Given the description of an element on the screen output the (x, y) to click on. 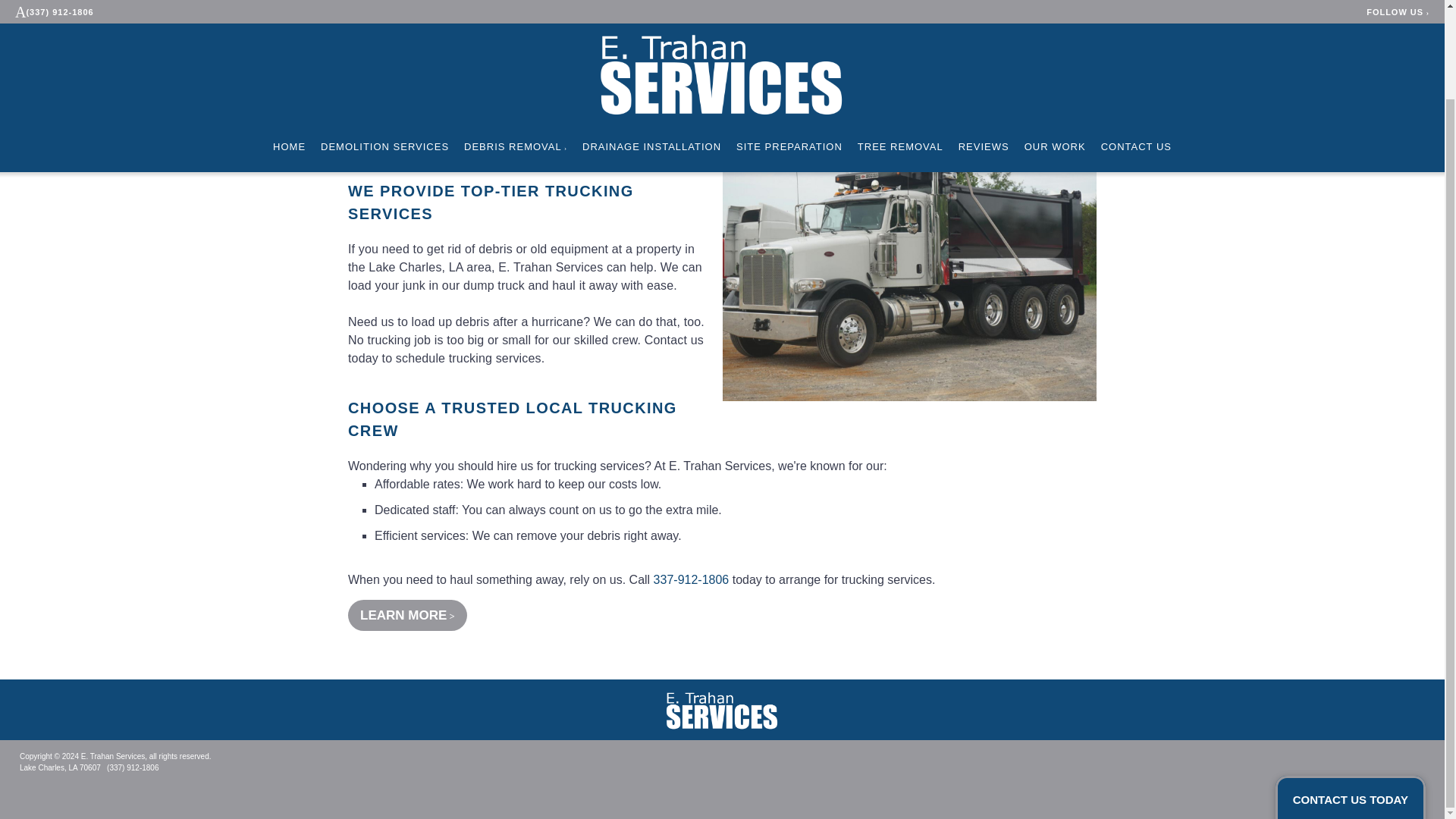
E. Trahan Services (722, 709)
337-912-1806 (691, 579)
DRAINAGE INSTALLATION (651, 45)
HOME (289, 45)
GET RID OF YOUR JUNK ASAP (496, 145)
CONTACT US TODAY (1350, 698)
SITE PREPARATION (789, 45)
OUR WORK (1055, 45)
TREE REMOVAL (900, 45)
CONTACT US (1136, 45)
LEARN MORE (407, 614)
REVIEWS (983, 45)
DEMOLITION SERVICES (384, 45)
